Given the description of an element on the screen output the (x, y) to click on. 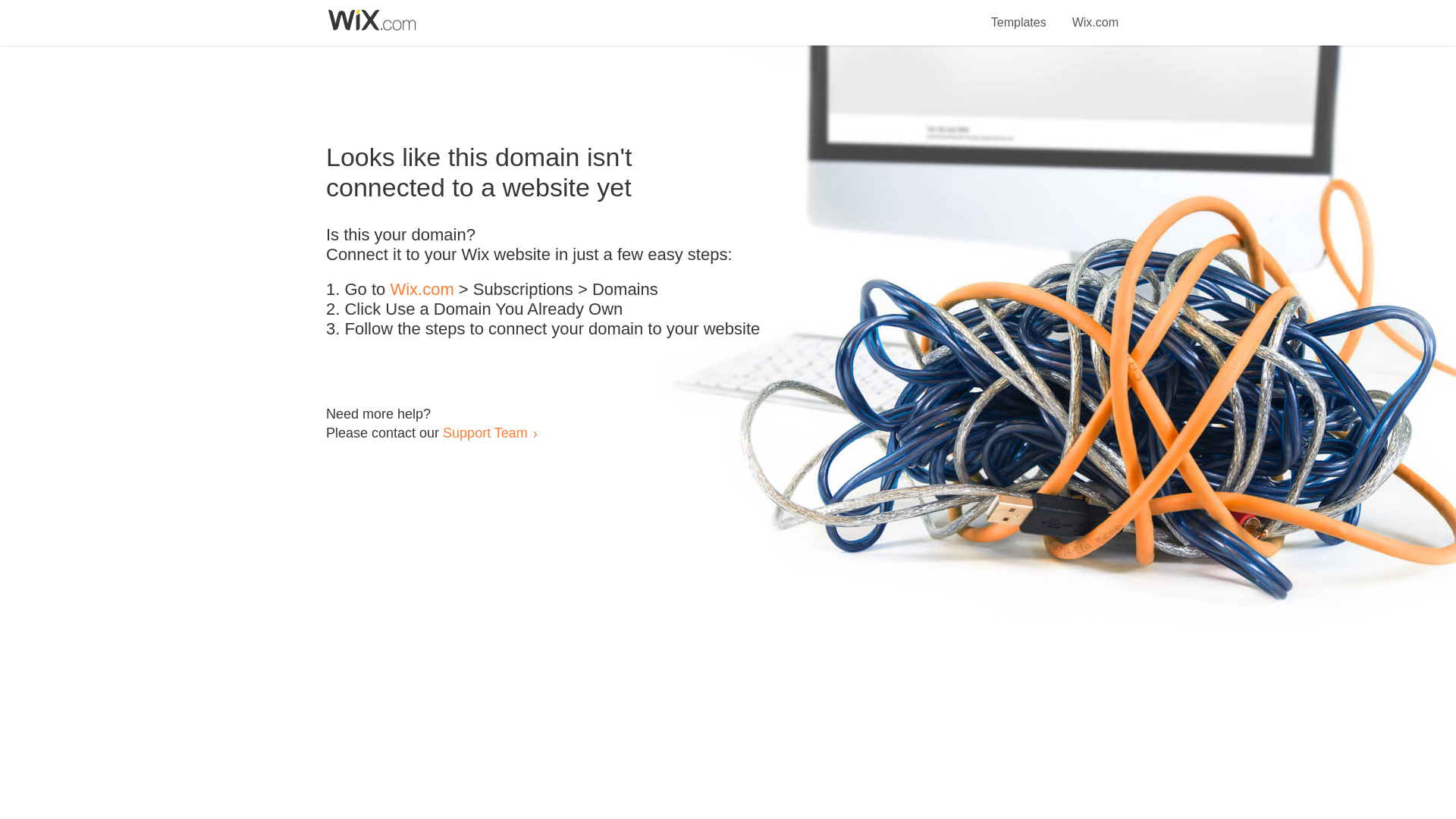
Support Team (484, 432)
Templates (1018, 14)
Wix.com (1095, 14)
Wix.com (421, 289)
